Given the description of an element on the screen output the (x, y) to click on. 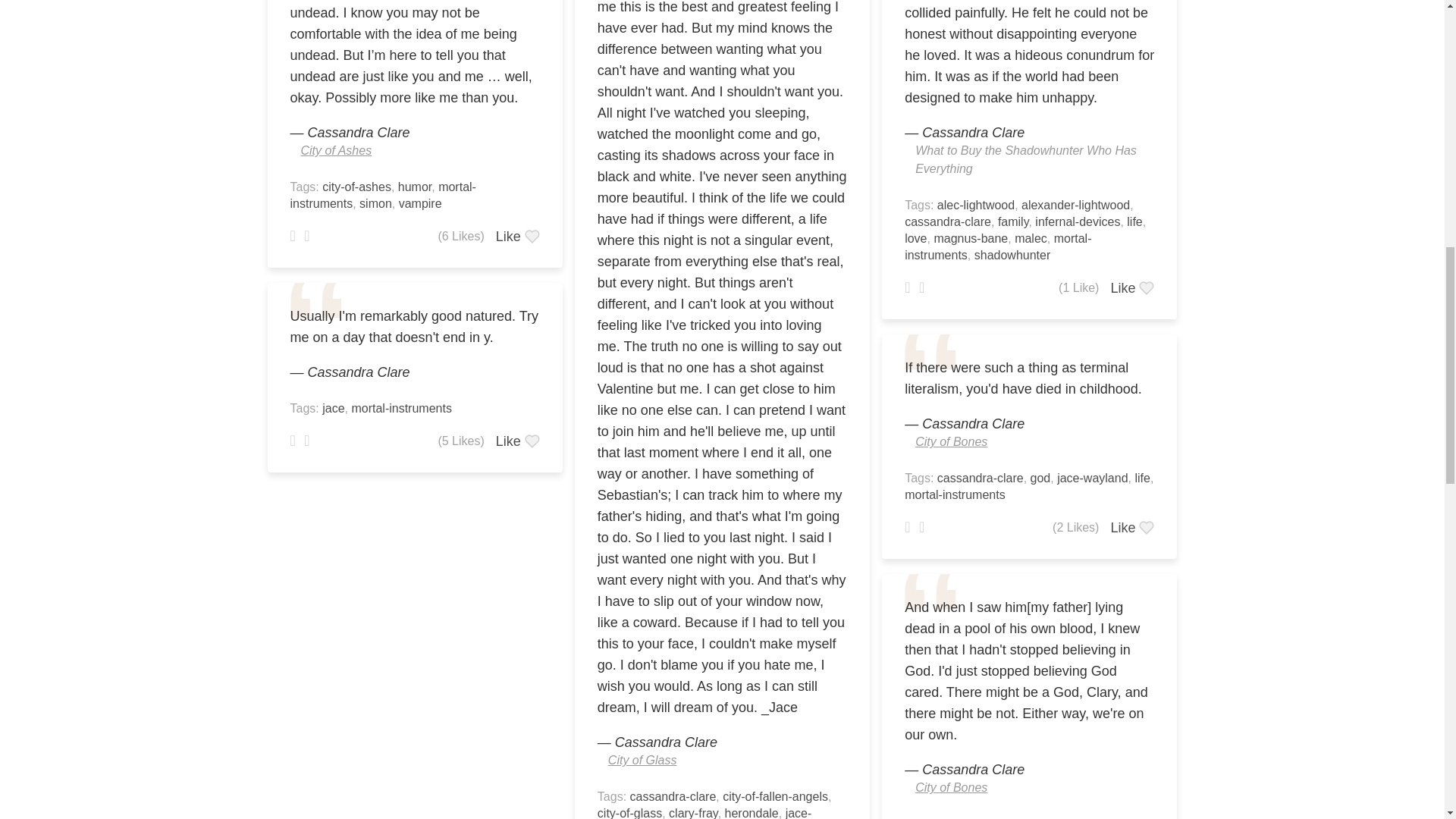
mortal-instruments (382, 194)
city-of-ashes (356, 186)
City of Ashes (335, 150)
Cassandra Clare (358, 132)
vampire (420, 203)
Cassandra Clare (358, 372)
simon (375, 203)
humor (413, 186)
